Given the description of an element on the screen output the (x, y) to click on. 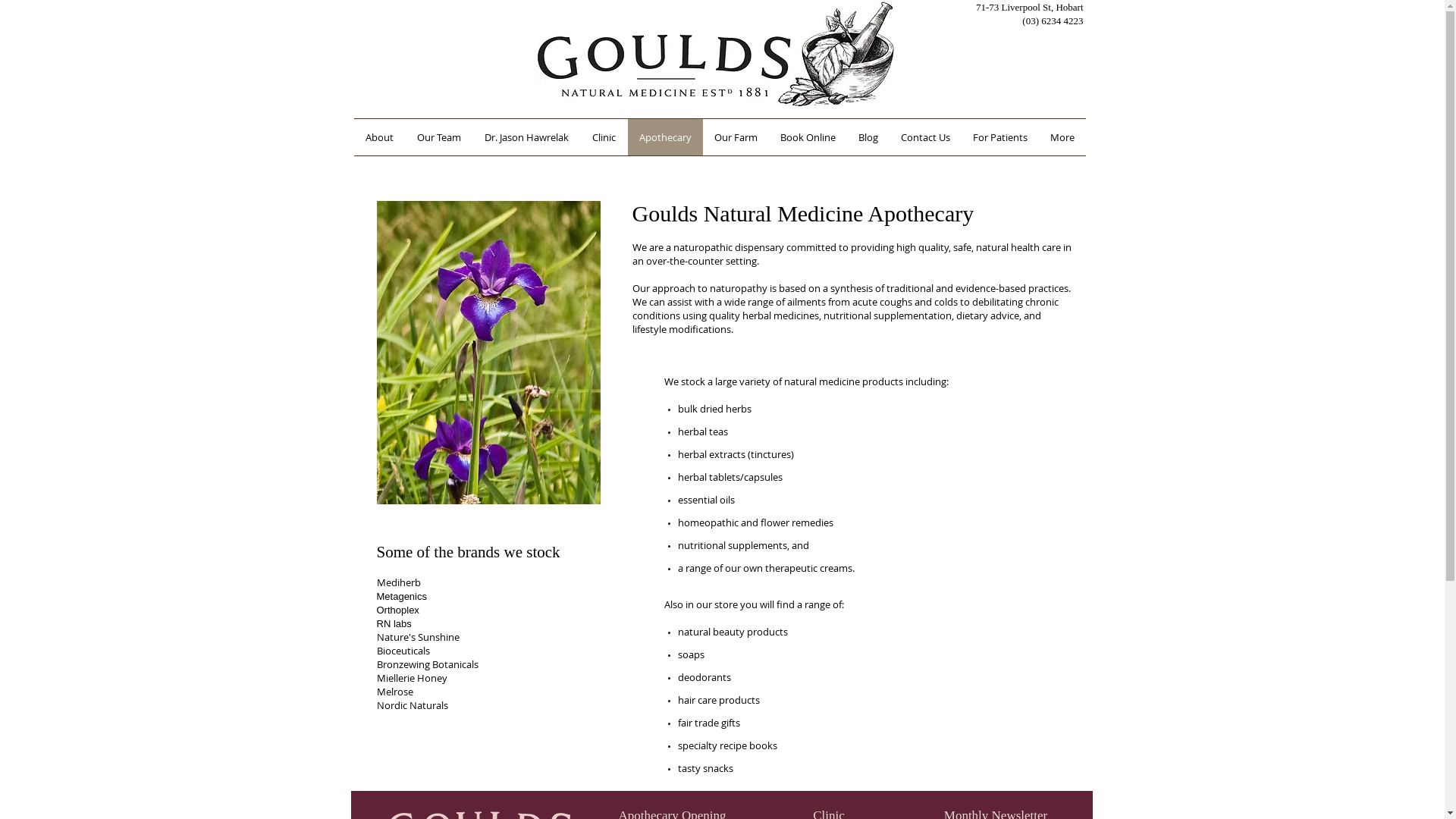
Our Team Element type: text (438, 137)
Iris versicolor Element type: hover (487, 352)
Blog Element type: text (867, 137)
For Patients Element type: text (999, 137)
Book Online Element type: text (807, 137)
About Element type: text (378, 137)
Dr. Jason Hawrelak Element type: text (526, 137)
Contact Us Element type: text (924, 137)
Our Farm Element type: text (735, 137)
Clinic Element type: text (603, 137)
Apothecary Element type: text (664, 137)
GouldsHoriz.jpg Element type: hover (714, 53)
